Given the description of an element on the screen output the (x, y) to click on. 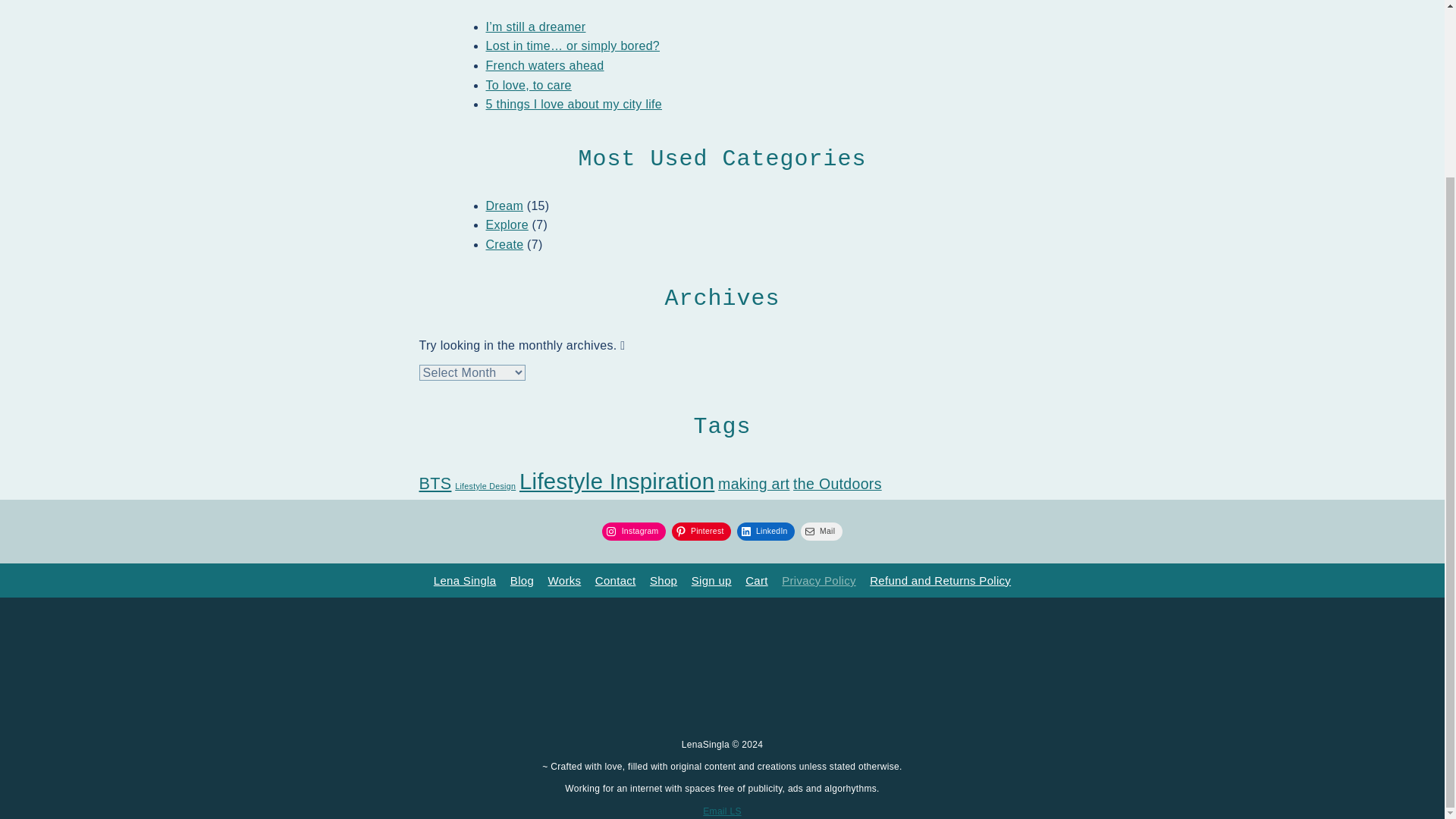
Email LS (722, 810)
5 things I love about my city life (573, 103)
Lena Singla (464, 580)
Instagram (633, 531)
French waters ahead (544, 65)
BTS (435, 483)
Dream (503, 205)
Sign up (711, 580)
the Outdoors (837, 483)
Lifestyle Design (484, 485)
